Given the description of an element on the screen output the (x, y) to click on. 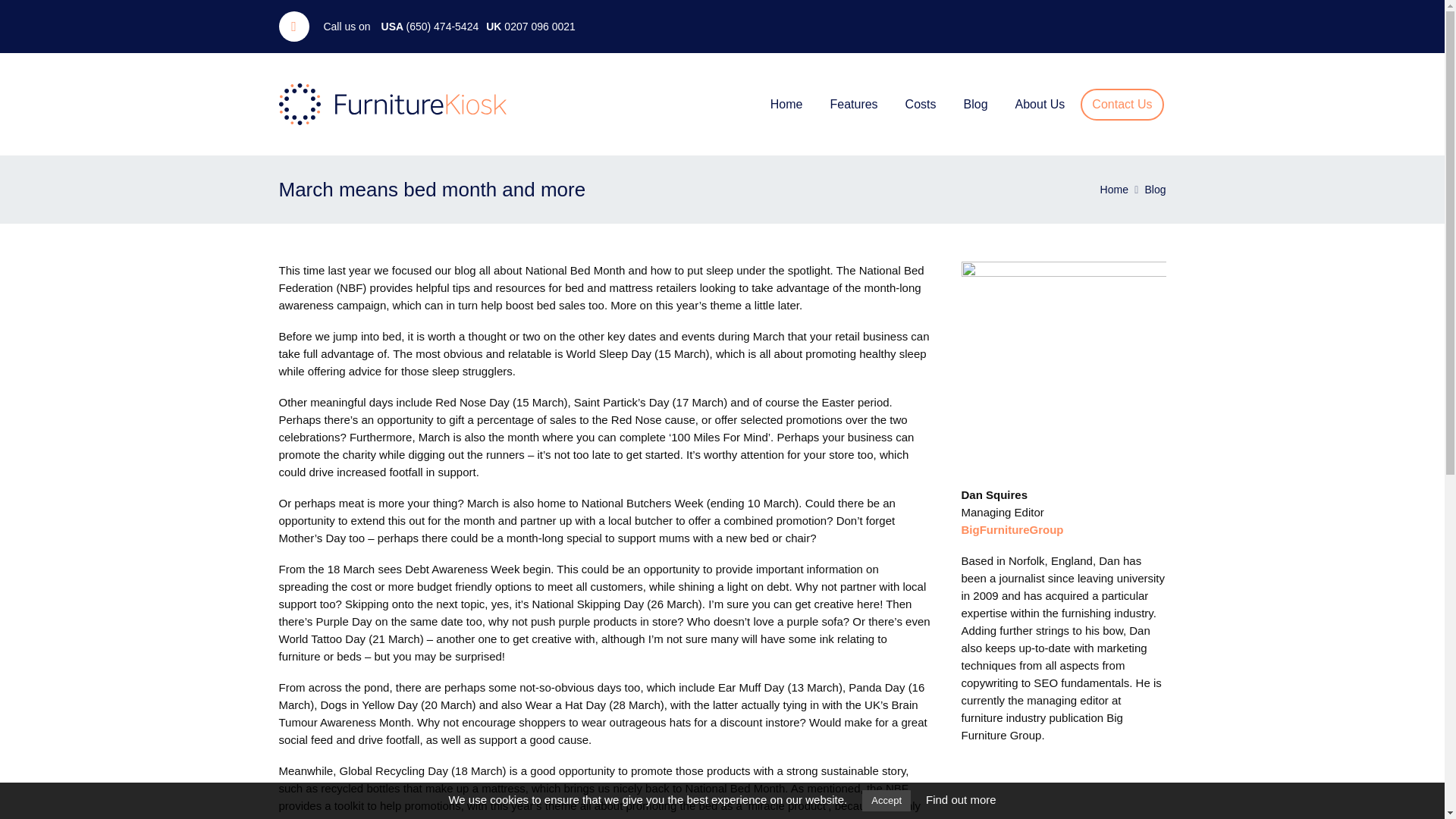
Home (1114, 189)
Home (1114, 189)
Accept (886, 800)
FurnitureKiosk (392, 104)
0207 096 0021 (539, 26)
Blog (1155, 189)
Find out more (960, 799)
Blog (1155, 189)
BigFurnitureGroup (1012, 529)
